Given the description of an element on the screen output the (x, y) to click on. 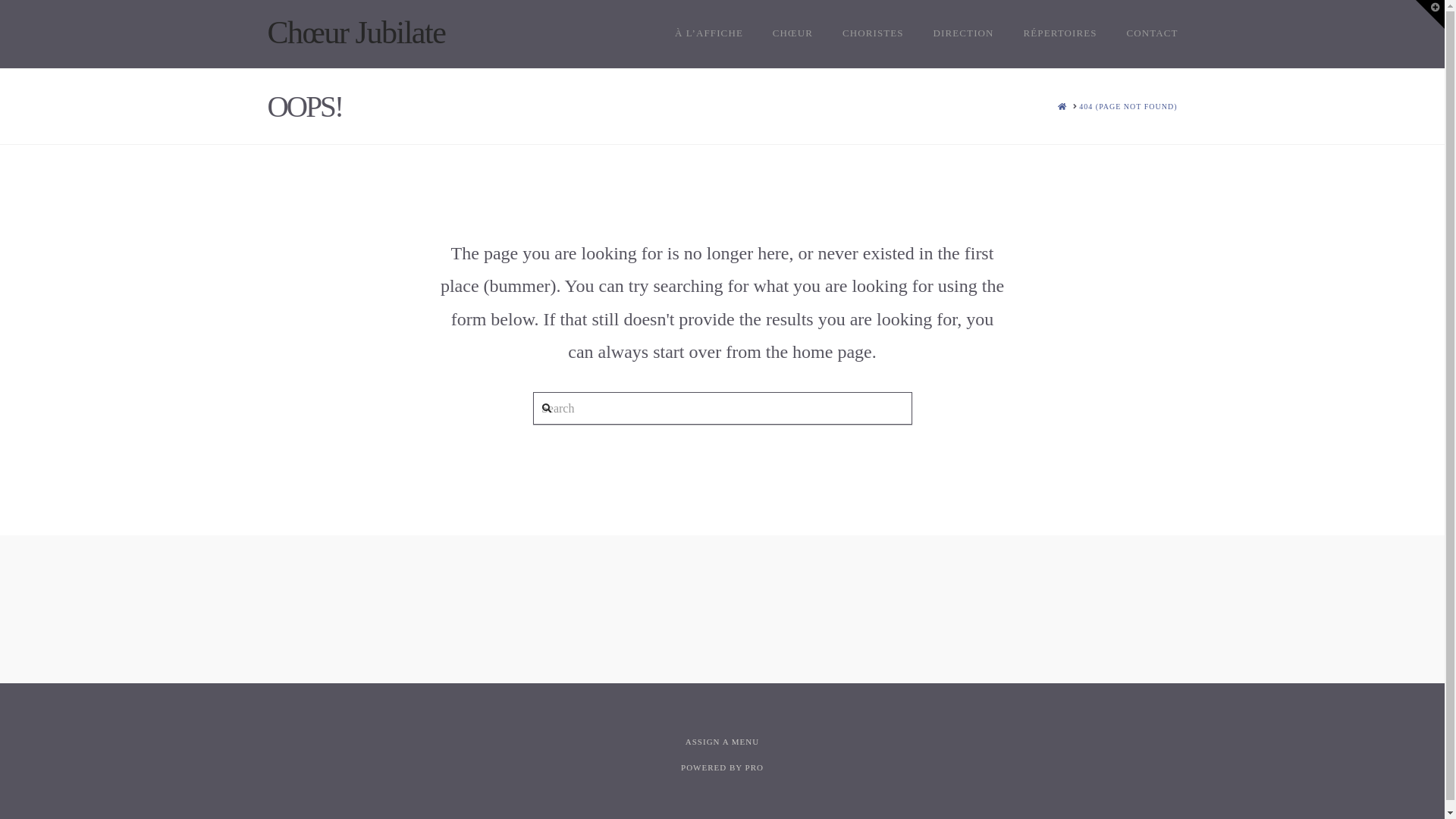
PRO Element type: text (754, 766)
Toggle the Widgetbar Element type: text (1429, 14)
DIRECTION Element type: text (963, 34)
CONTACT Element type: text (1144, 34)
404 (PAGE NOT FOUND) Element type: text (1127, 106)
ASSIGN A MENU Element type: text (722, 741)
HOME Element type: text (1061, 106)
CHORISTES Element type: text (872, 34)
